Given the description of an element on the screen output the (x, y) to click on. 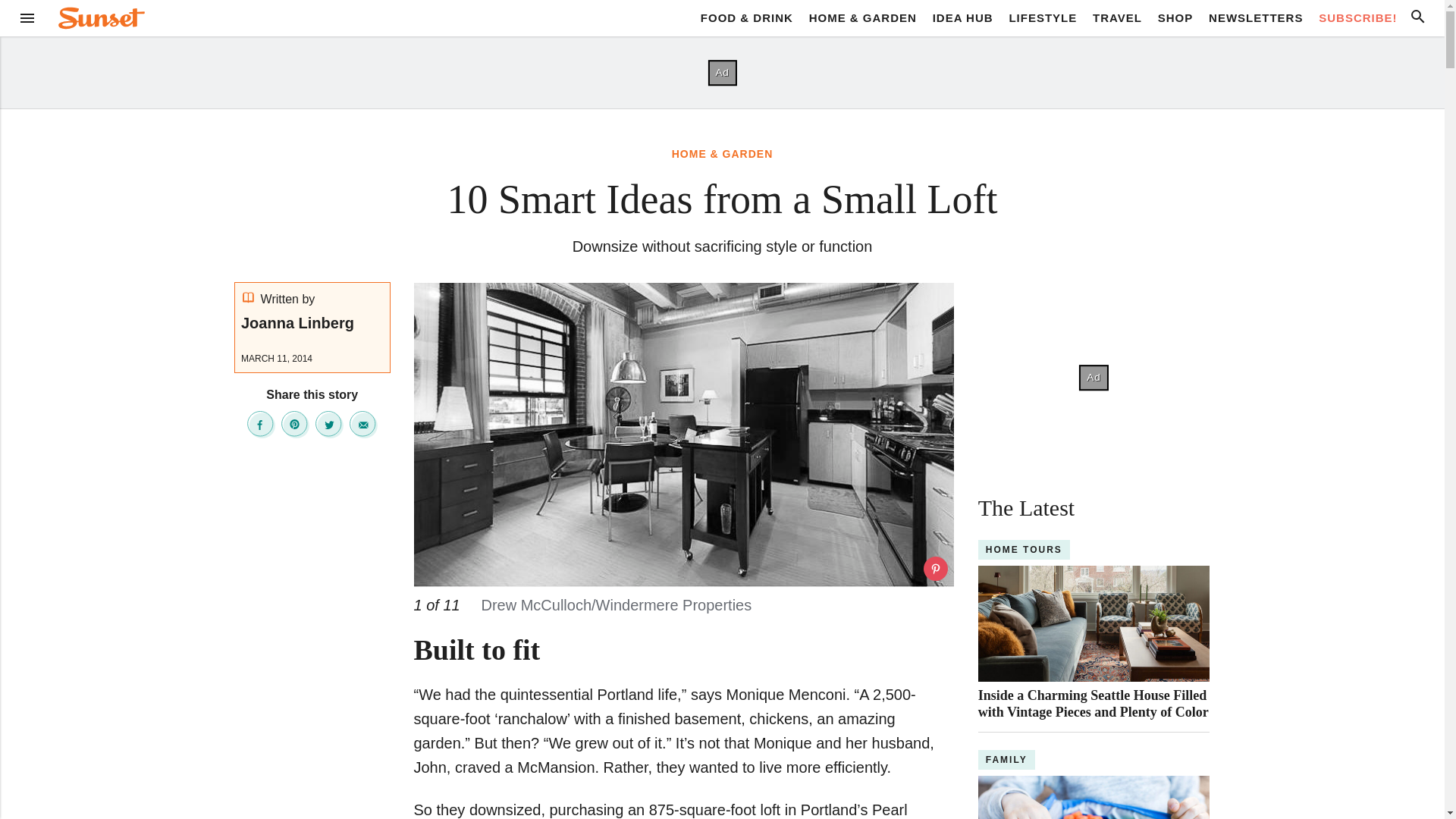
IDEA HUB (962, 17)
LIFESTYLE (1043, 17)
TRAVEL (1117, 17)
